Given the description of an element on the screen output the (x, y) to click on. 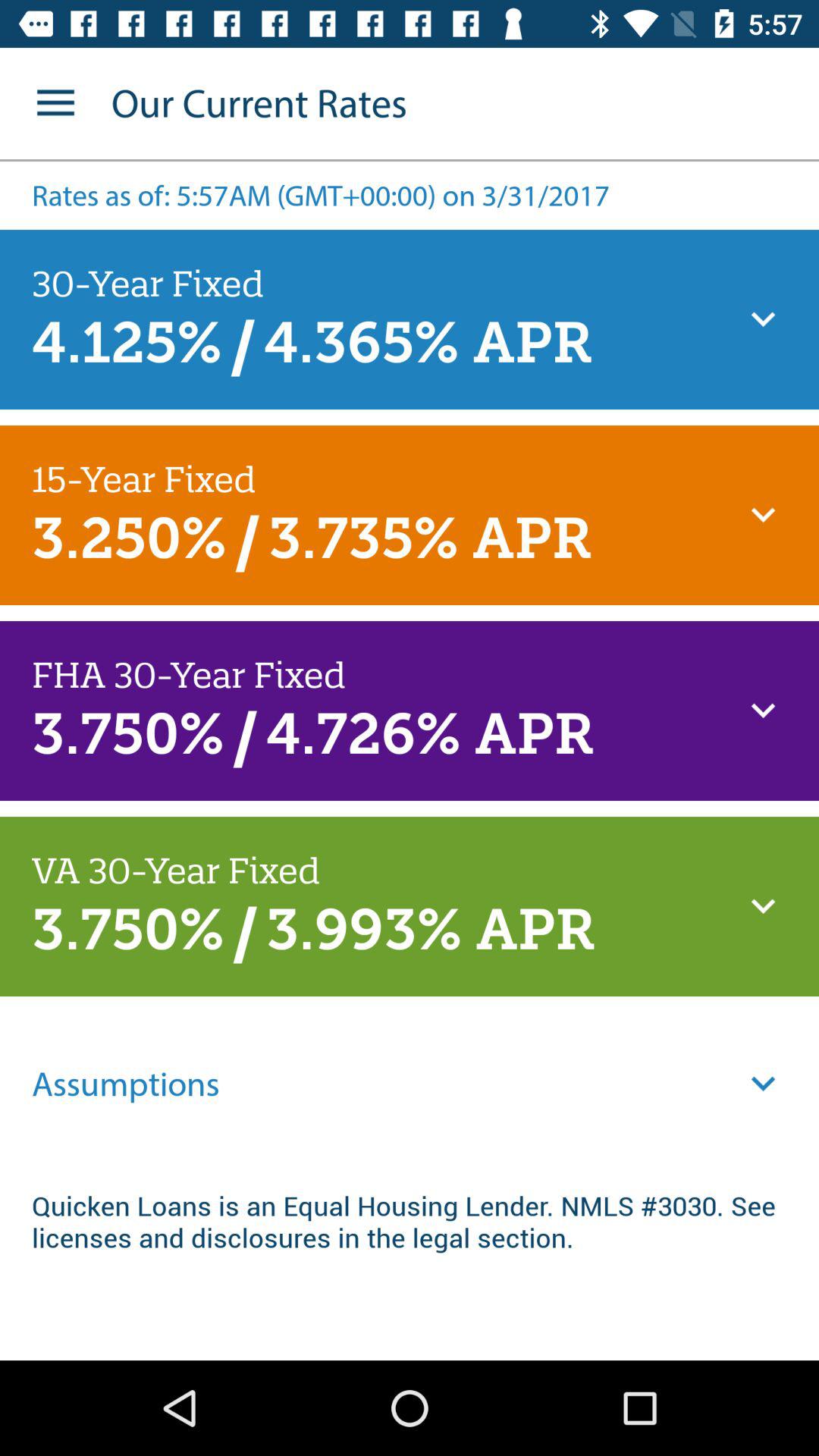
tap the item to the left of the our current rates (55, 103)
